Given the description of an element on the screen output the (x, y) to click on. 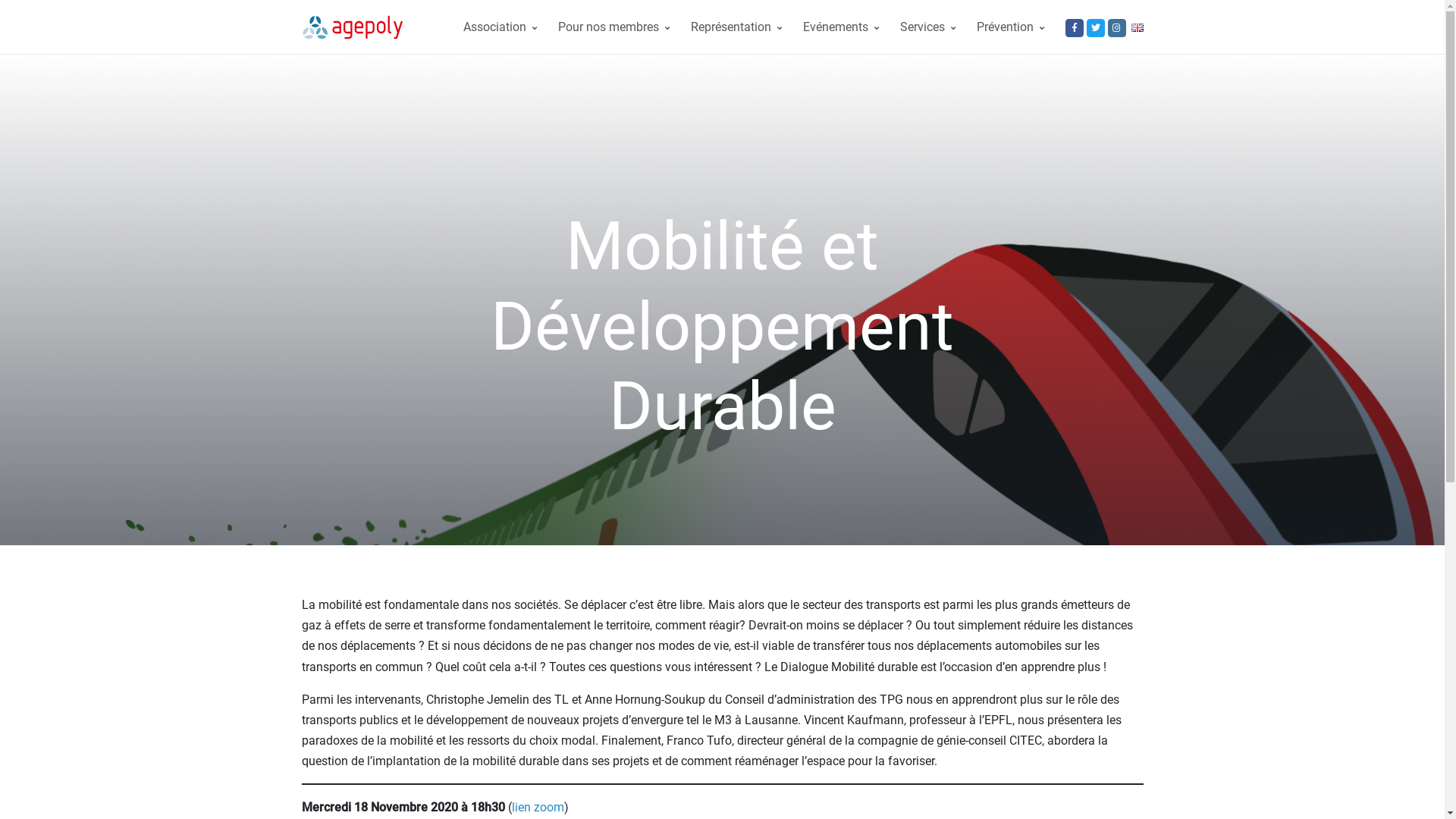
Association Element type: text (498, 26)
lien zoom Element type: text (537, 807)
Pour nos membres Element type: text (613, 26)
Services Element type: text (926, 26)
